Given the description of an element on the screen output the (x, y) to click on. 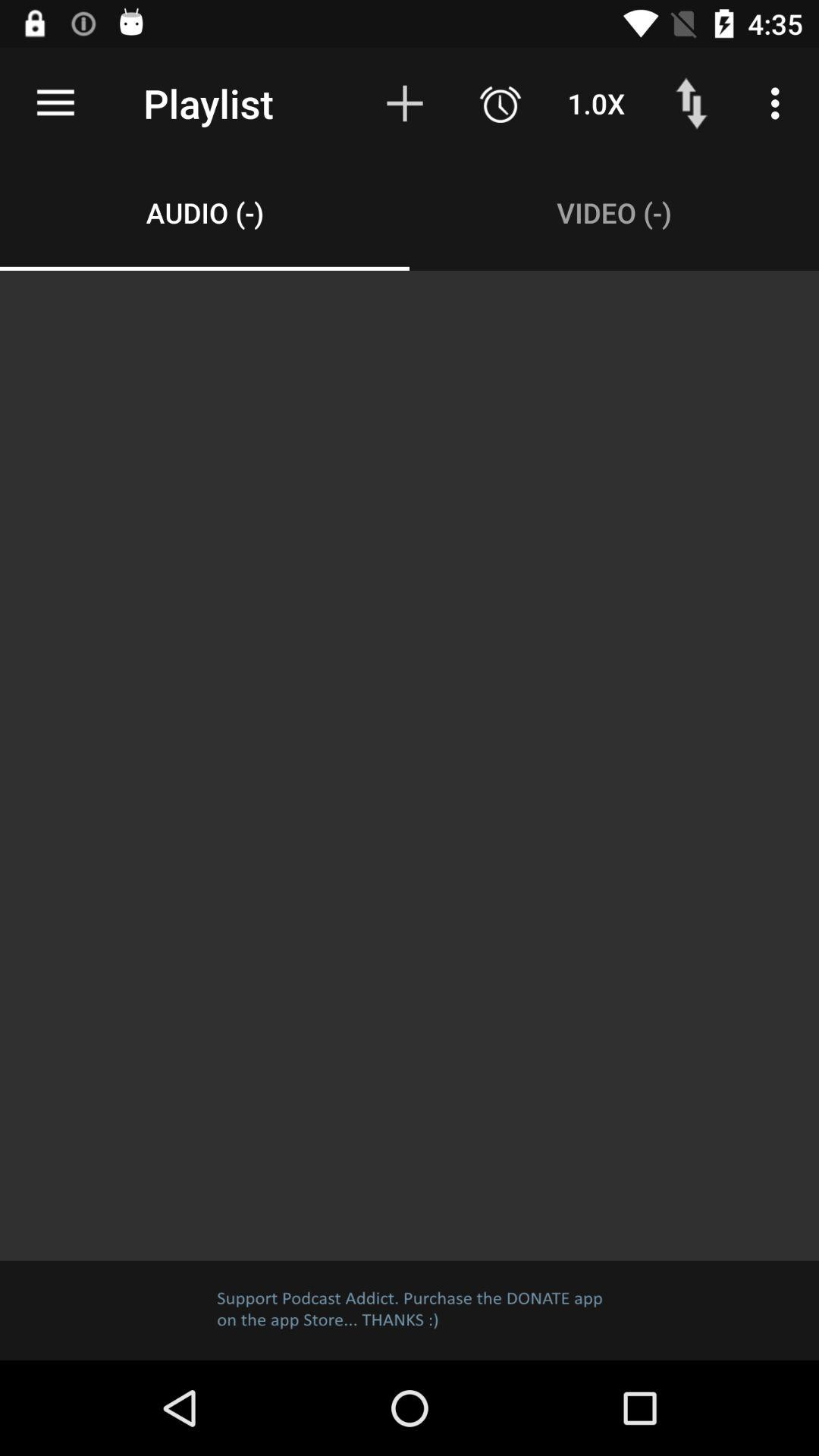
click the icon above audio (-) item (55, 103)
